Given the description of an element on the screen output the (x, y) to click on. 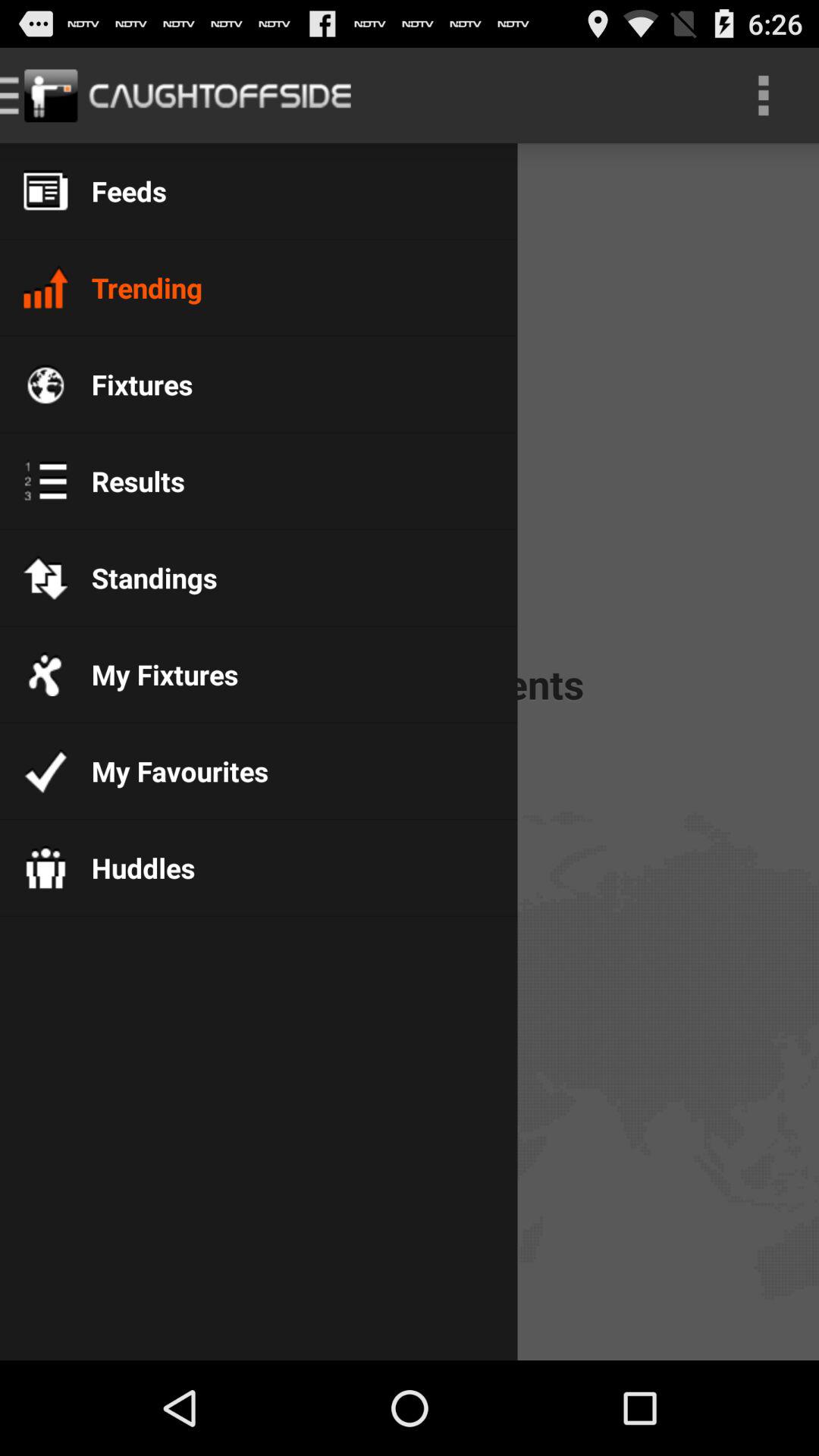
click on the icon which is beside feeds (45, 190)
click on icon left to standings (45, 577)
select on the icon beside results (45, 480)
click on icons on the left side of huddles (45, 867)
select the icon which is left side of the trending (45, 287)
click on the icon which is beside fixtures (45, 384)
click on the icon beside the text standings (45, 577)
click on icon on the left side of my fixtures (45, 673)
